Given the description of an element on the screen output the (x, y) to click on. 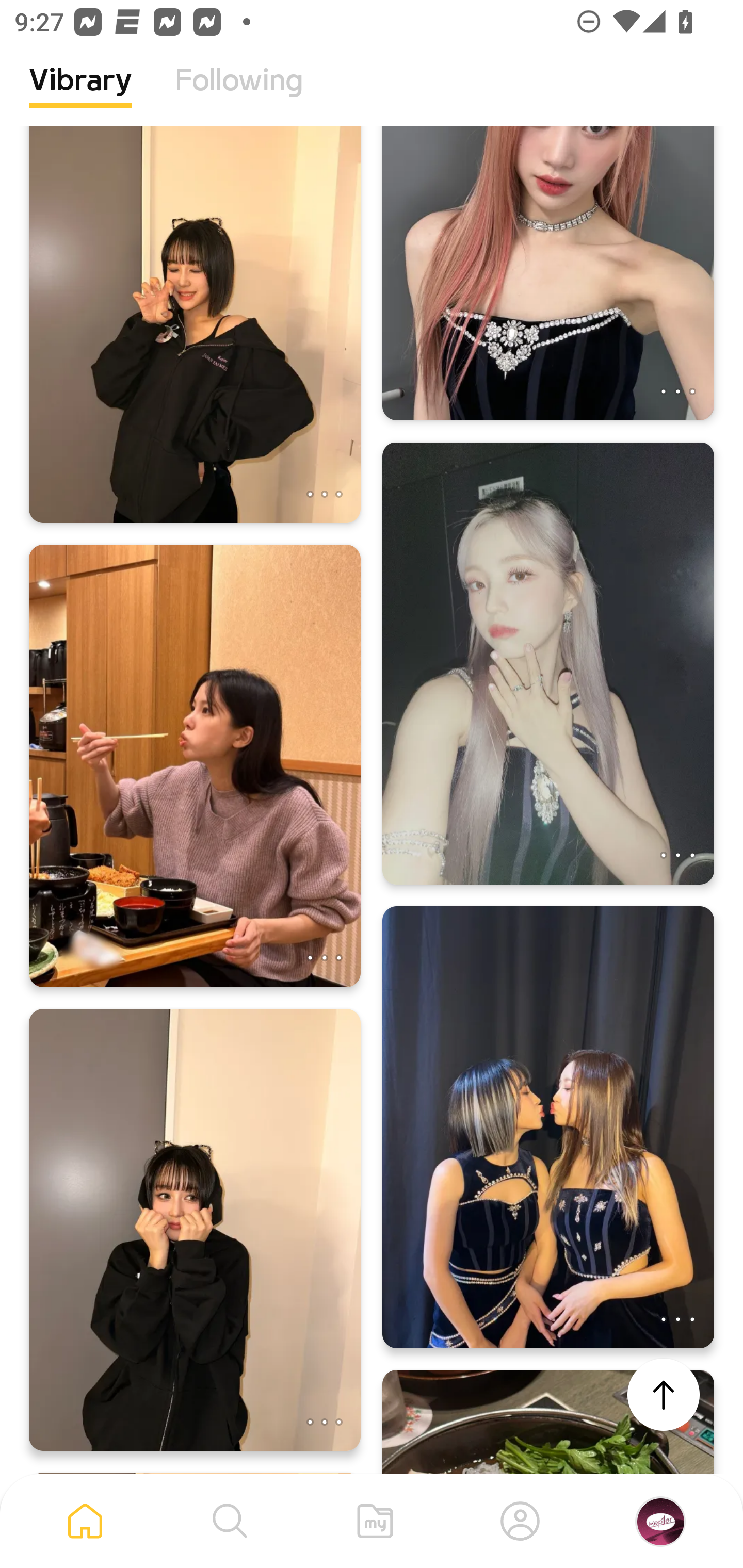
Vibrary (80, 95)
Following (239, 95)
